Given the description of an element on the screen output the (x, y) to click on. 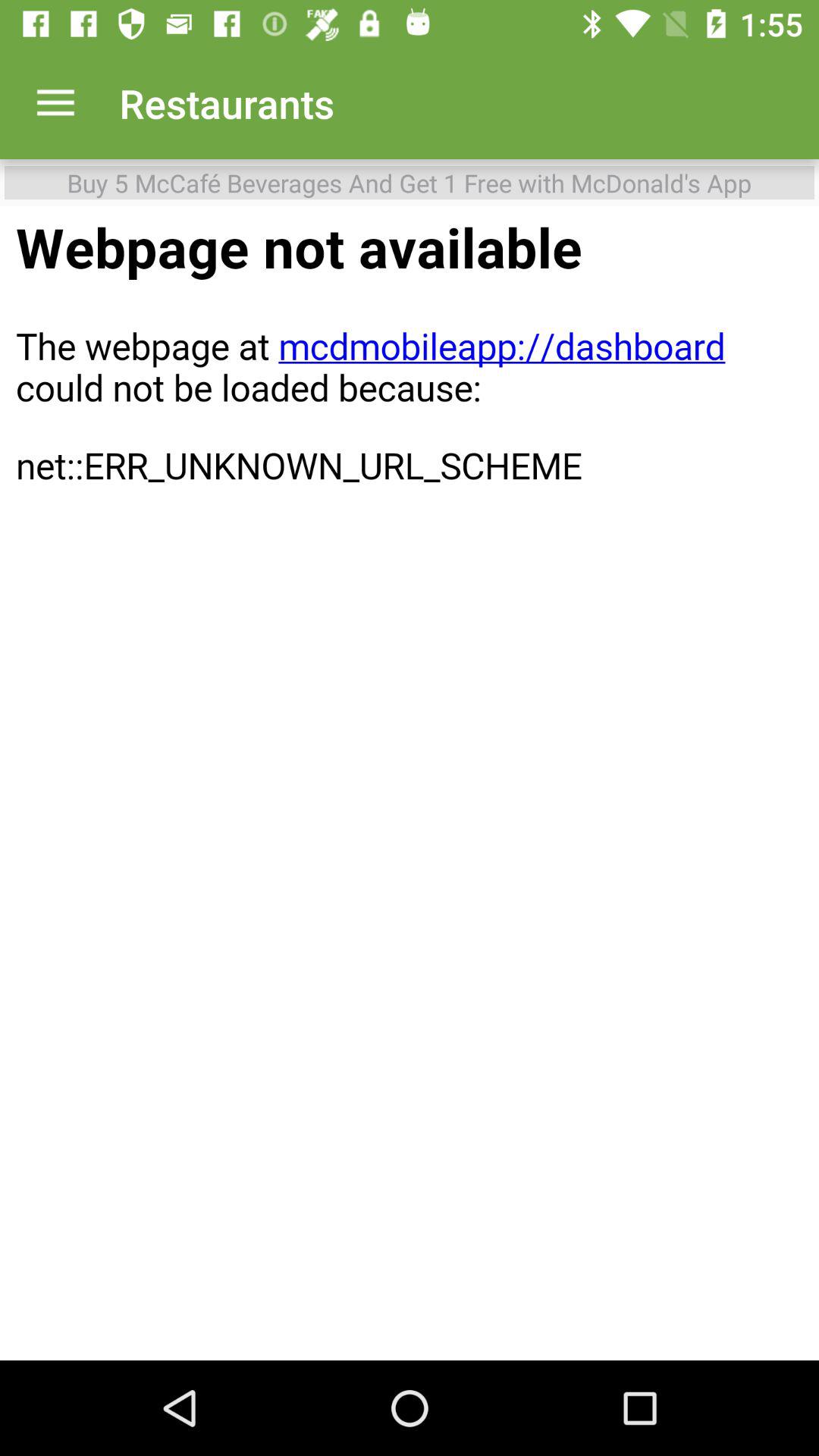
webpage (409, 783)
